Given the description of an element on the screen output the (x, y) to click on. 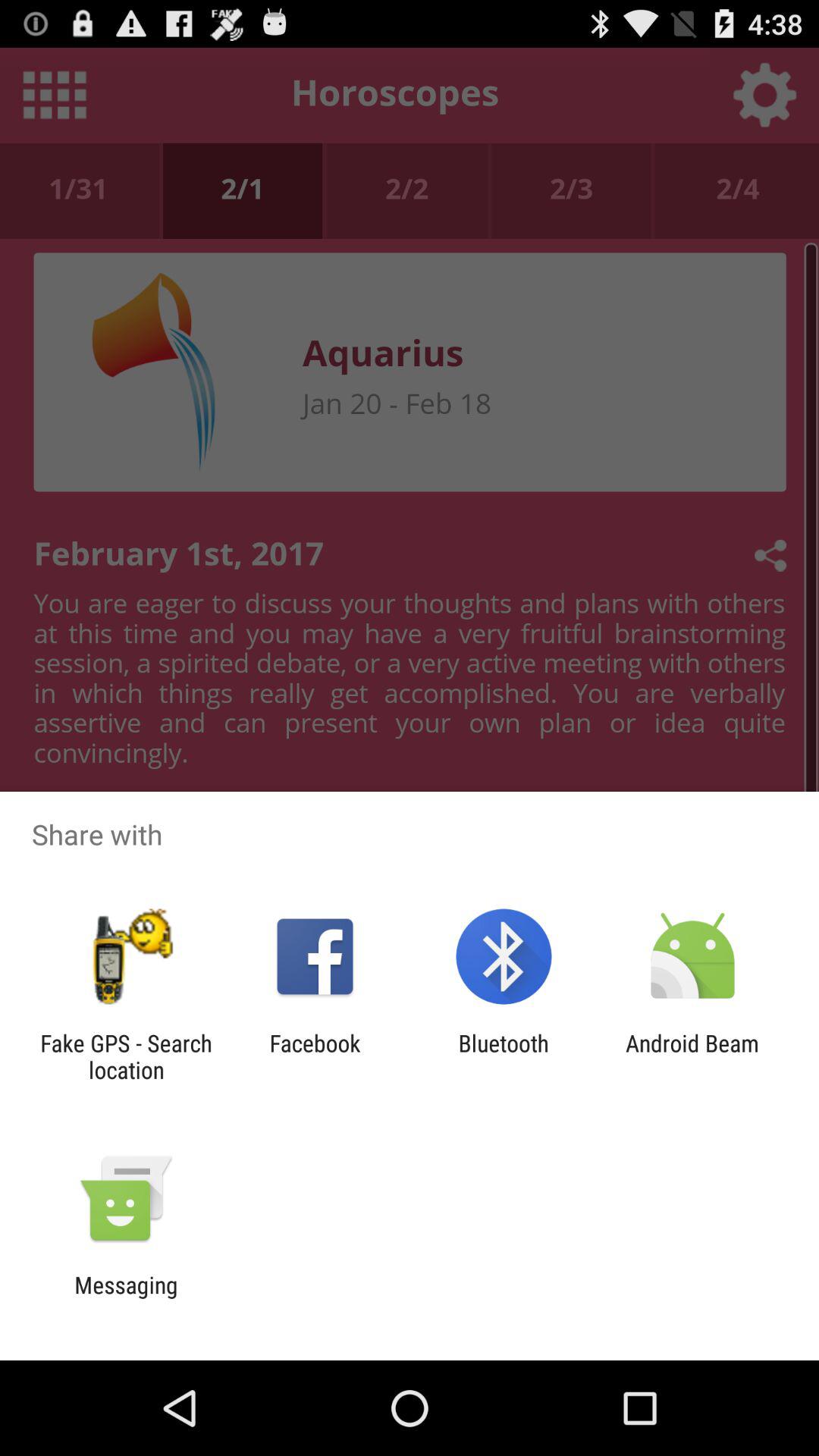
choose icon next to bluetooth (314, 1056)
